Given the description of an element on the screen output the (x, y) to click on. 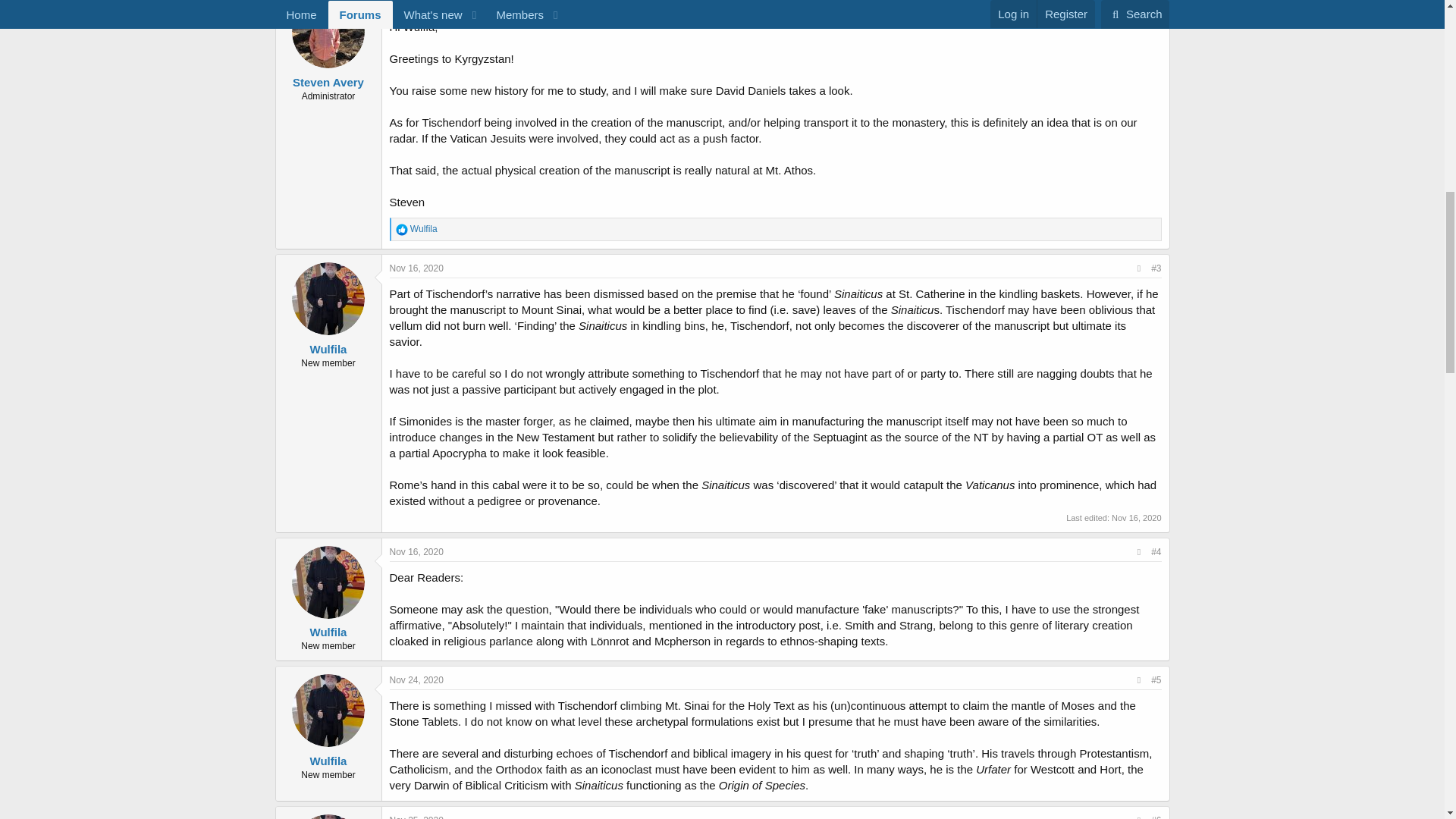
Nov 24, 2020 at 5:32 AM (417, 679)
Nov 16, 2020 at 3:24 AM (417, 267)
Like (401, 229)
Nov 15, 2020 at 8:46 AM (417, 3)
Nov 16, 2020 at 4:55 AM (417, 552)
Nov 16, 2020 at 4:27 AM (1136, 517)
Nov 25, 2020 at 5:17 AM (417, 816)
